Given the description of an element on the screen output the (x, y) to click on. 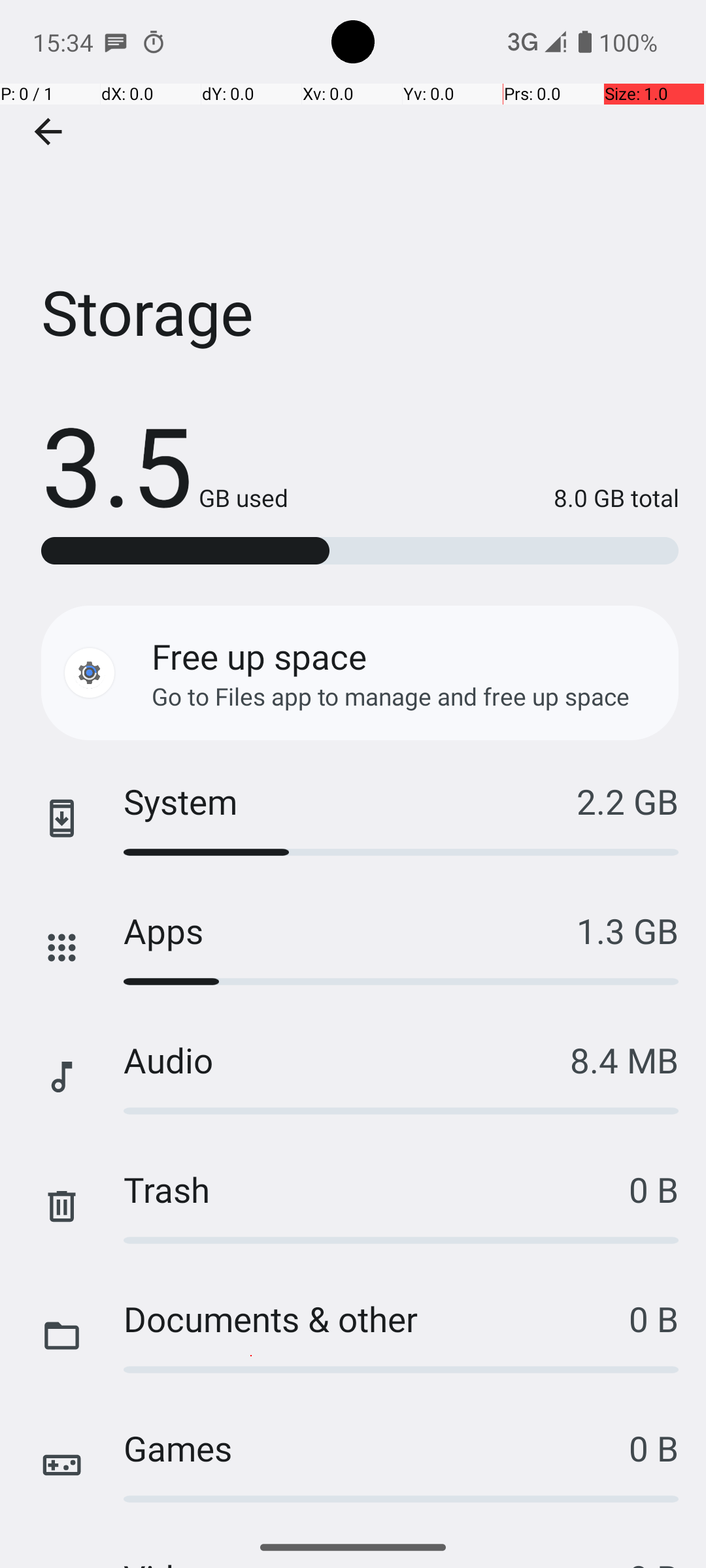
3.5 GB used Element type: android.widget.TextView (164, 463)
8.0 GB total Element type: android.widget.TextView (483, 497)
Free up space Element type: android.widget.TextView (258, 656)
Go to Files app to manage and free up space Element type: android.widget.TextView (390, 695)
2.2 GB Element type: android.widget.TextView (627, 801)
1.3 GB Element type: android.widget.TextView (627, 930)
8.4 MB Element type: android.widget.TextView (624, 1059)
Trash Element type: android.widget.TextView (375, 1189)
0 B Element type: android.widget.TextView (653, 1189)
Documents & other Element type: android.widget.TextView (375, 1318)
Games Element type: android.widget.TextView (375, 1447)
